Given the description of an element on the screen output the (x, y) to click on. 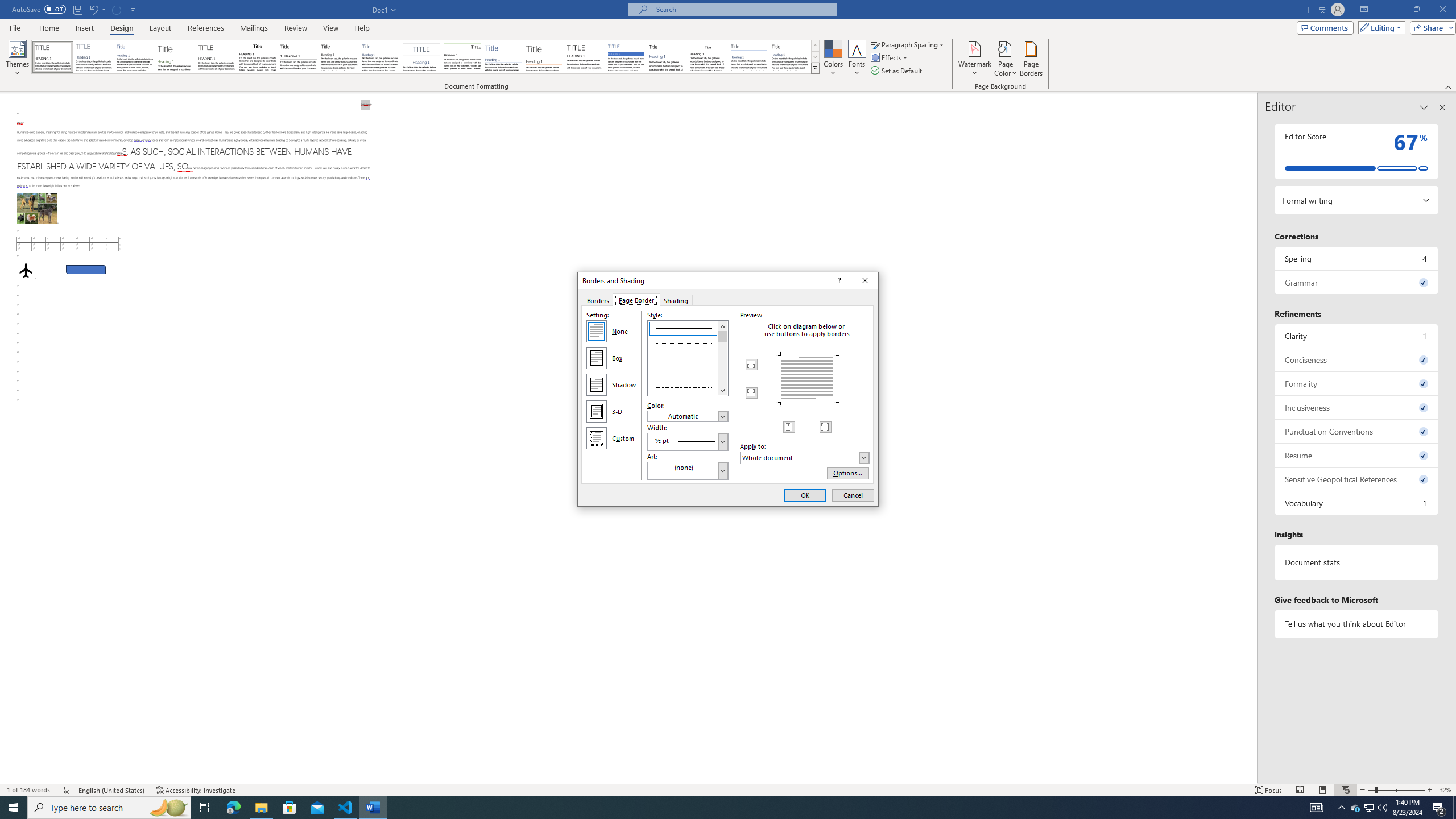
Border Color (Automatic) (687, 415)
Themes (17, 58)
Microsoft Edge (233, 807)
Word - 1 running window (373, 807)
Box (596, 358)
Accessibility Checker Accessibility: Investigate (195, 790)
Can't Repeat (117, 9)
Running applications (717, 807)
Language English (United States) (111, 790)
Row Down (814, 56)
Zoom (1396, 790)
Width: (687, 441)
Right Border (824, 426)
